Given the description of an element on the screen output the (x, y) to click on. 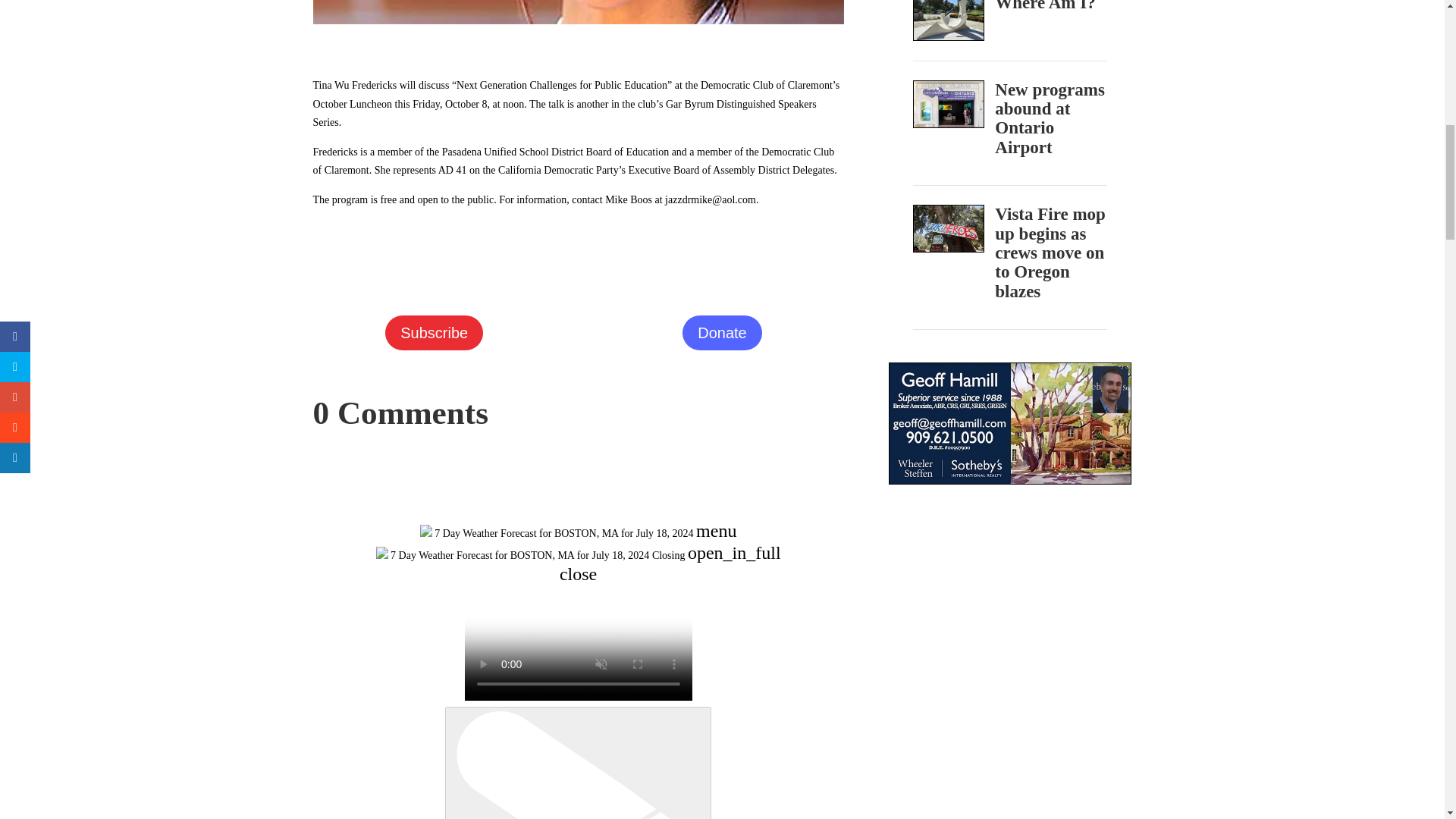
aa.Ont-Airport-1.WEB (949, 104)
Tina-Fredericks (578, 12)
